Given the description of an element on the screen output the (x, y) to click on. 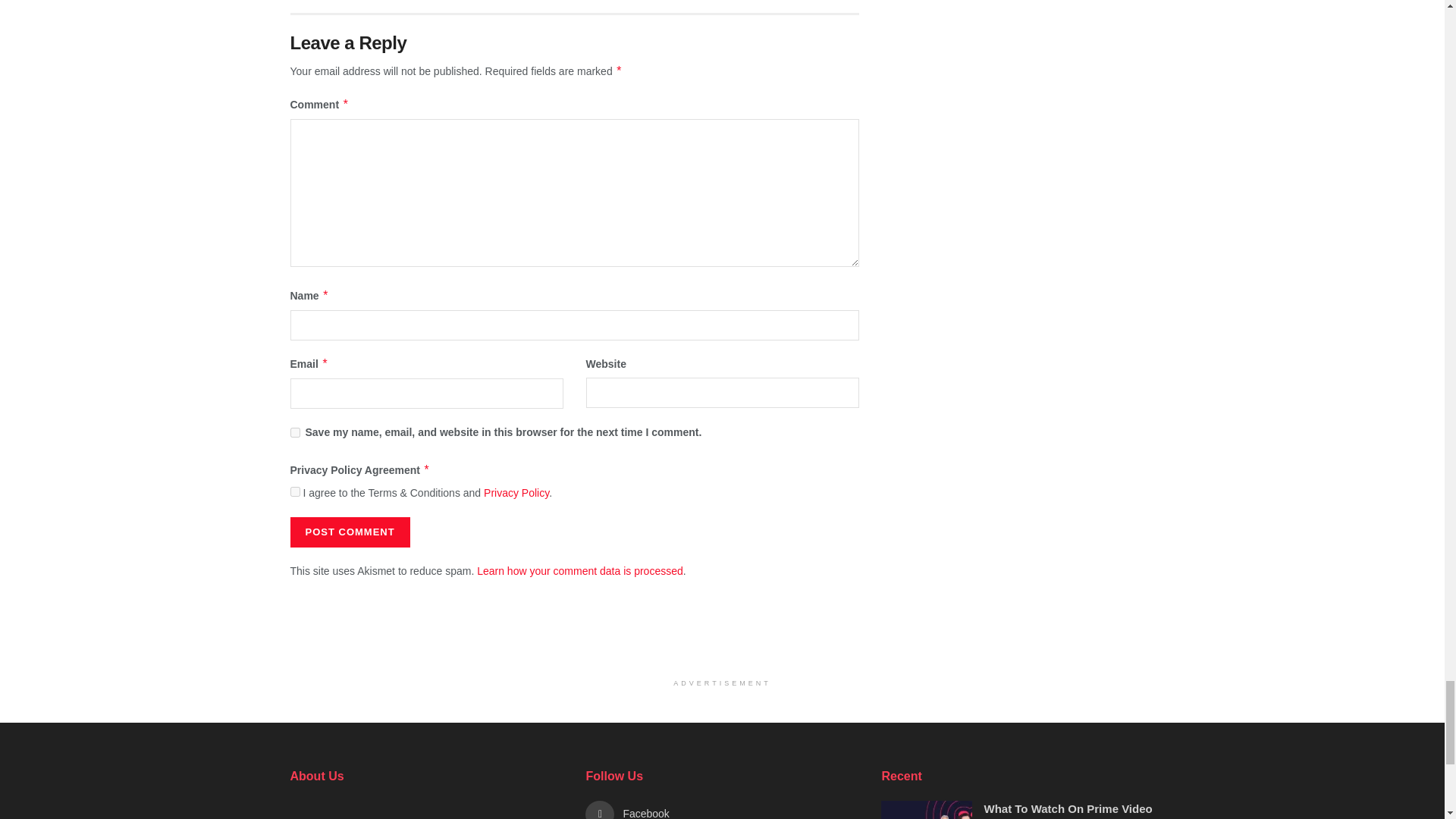
yes (294, 432)
on (294, 491)
Post Comment (349, 531)
